Given the description of an element on the screen output the (x, y) to click on. 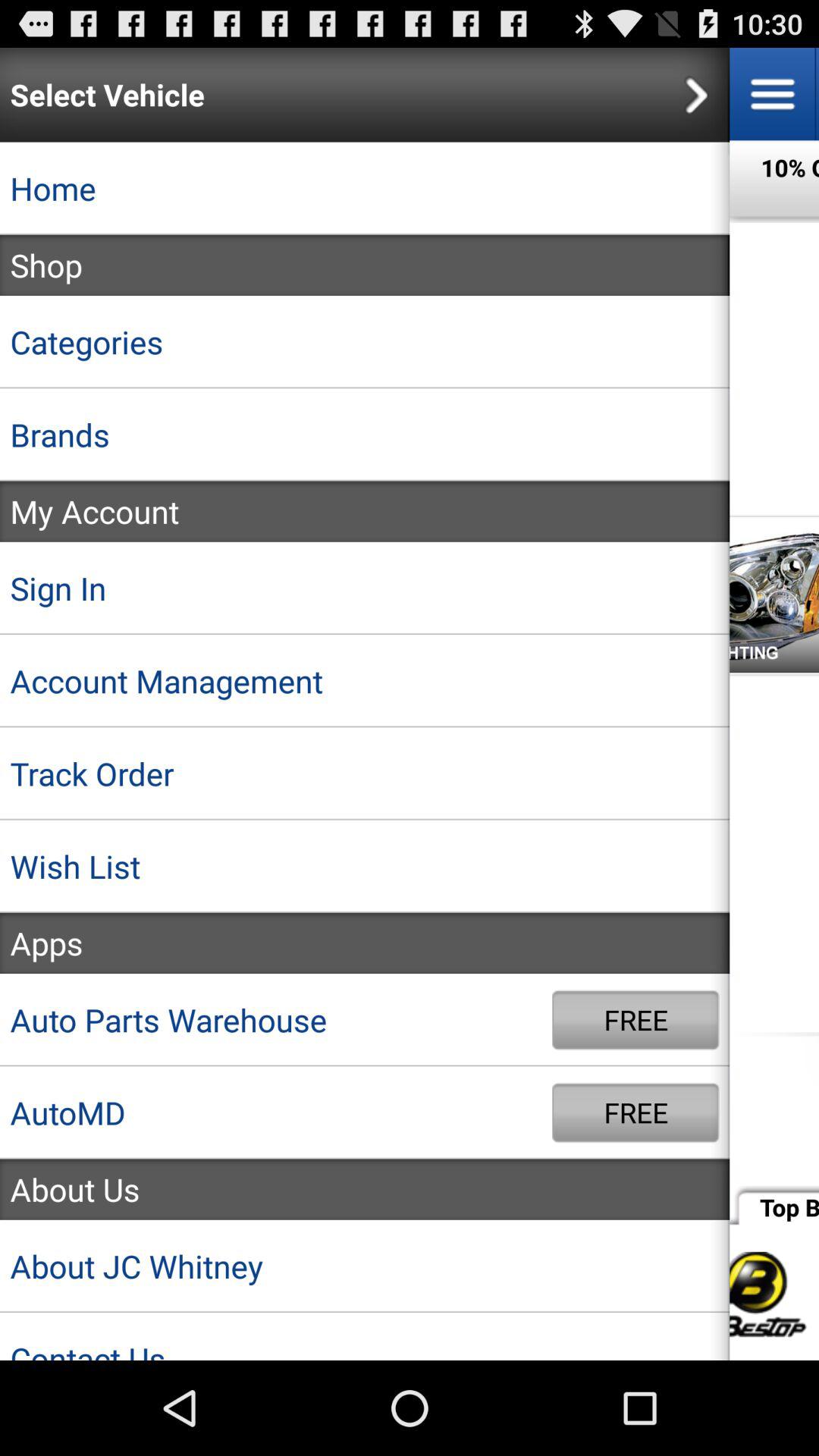
select the item below about jc whitney (364, 1336)
